Given the description of an element on the screen output the (x, y) to click on. 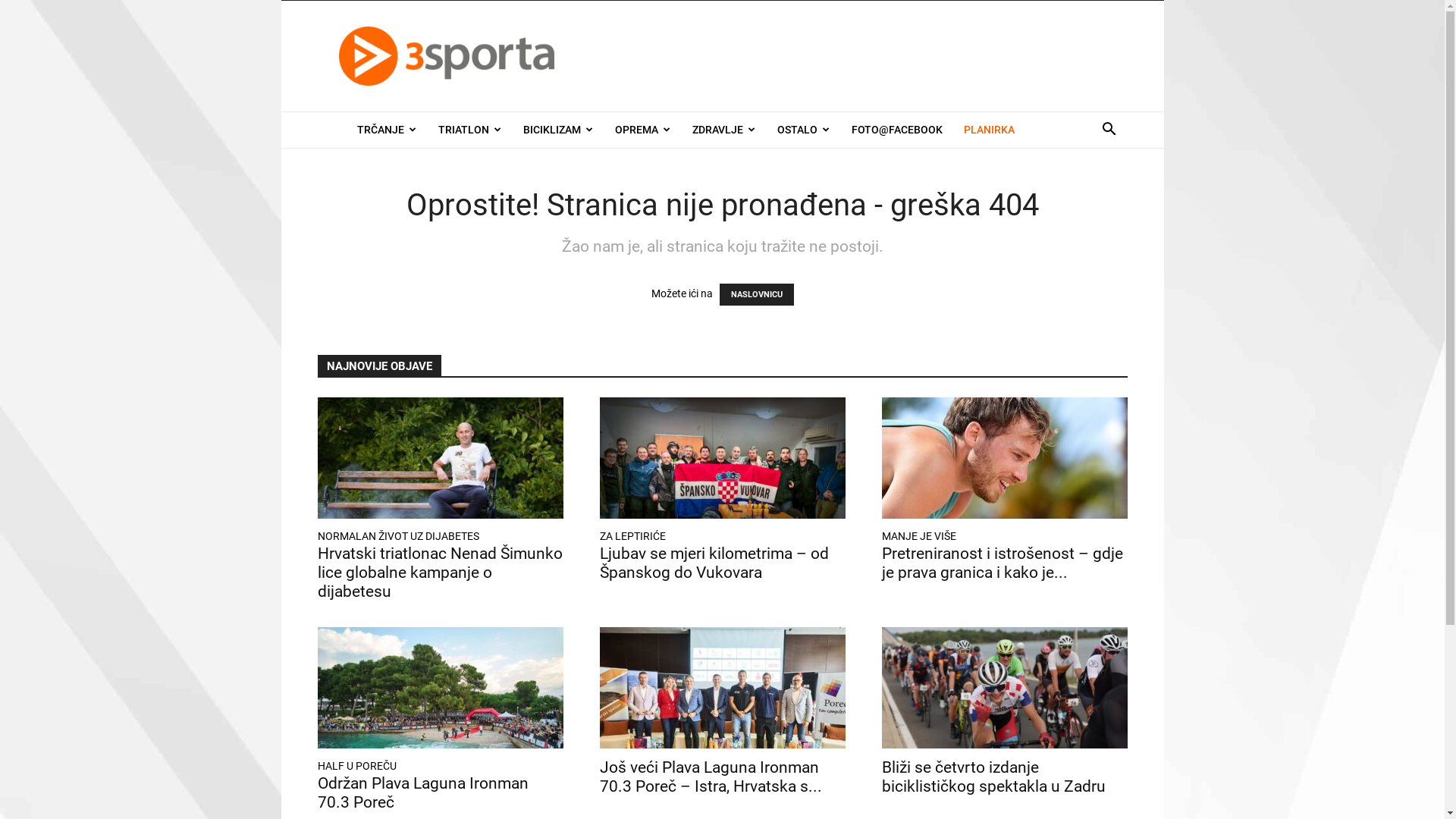
TRIATLON Element type: text (469, 129)
OPREMA Element type: text (641, 129)
PLANIRKA Element type: text (988, 129)
NASLOVNICU Element type: text (755, 294)
FOTO@FACEBOOK Element type: text (896, 129)
ZDRAVLJE Element type: text (722, 129)
BICIKLIZAM Element type: text (558, 129)
OSTALO Element type: text (802, 129)
